Given the description of an element on the screen output the (x, y) to click on. 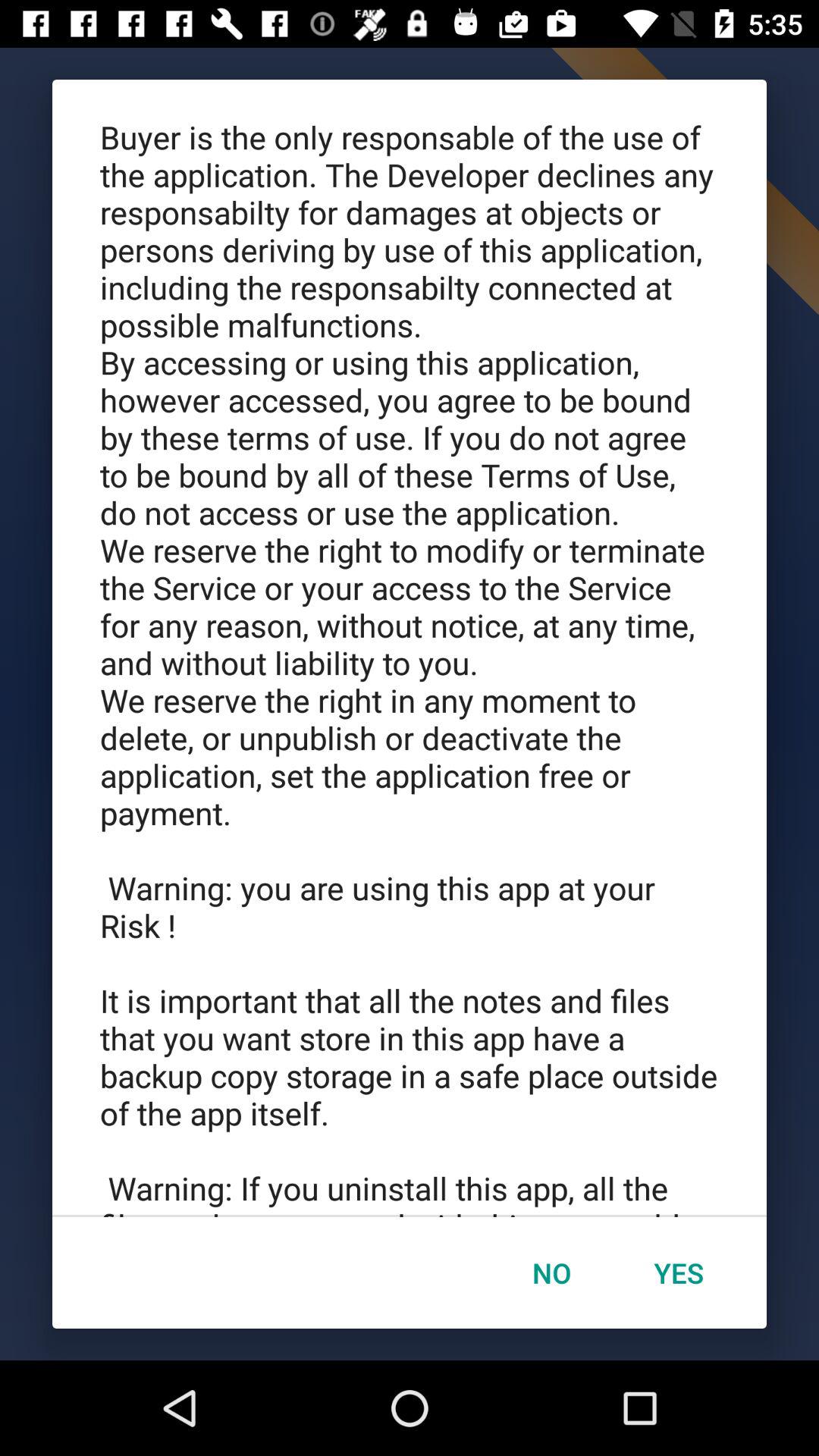
turn off item next to no (678, 1272)
